Given the description of an element on the screen output the (x, y) to click on. 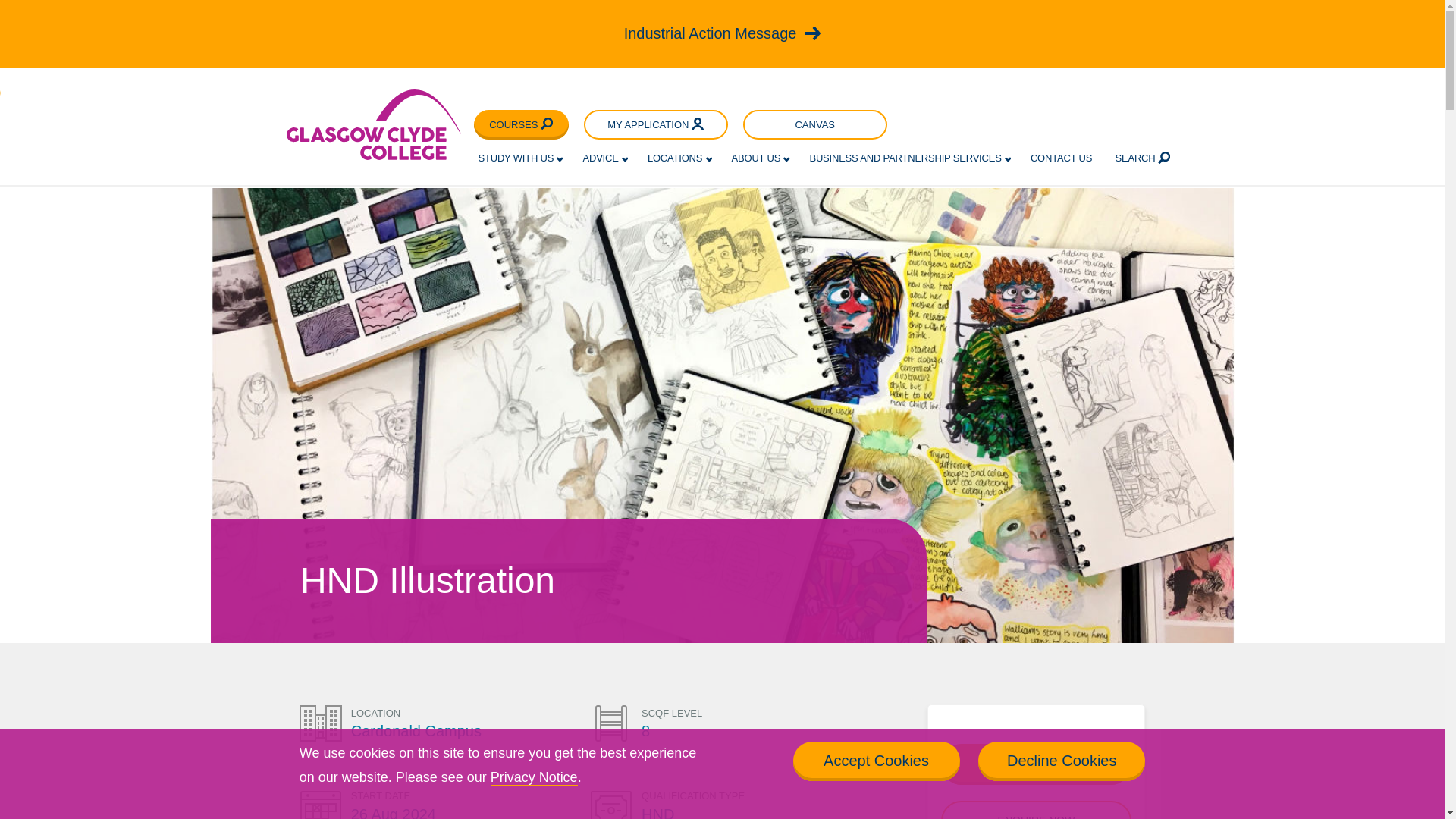
User (697, 123)
Glasgow Clyde College logo (373, 124)
Right arrow (813, 33)
ADVICE (599, 158)
Decline Cookies (1061, 761)
Magnifying glass (546, 123)
Accept Cookies (876, 761)
Magnifying glass (1163, 157)
CANVAS (814, 124)
COURSES (521, 124)
